Given the description of an element on the screen output the (x, y) to click on. 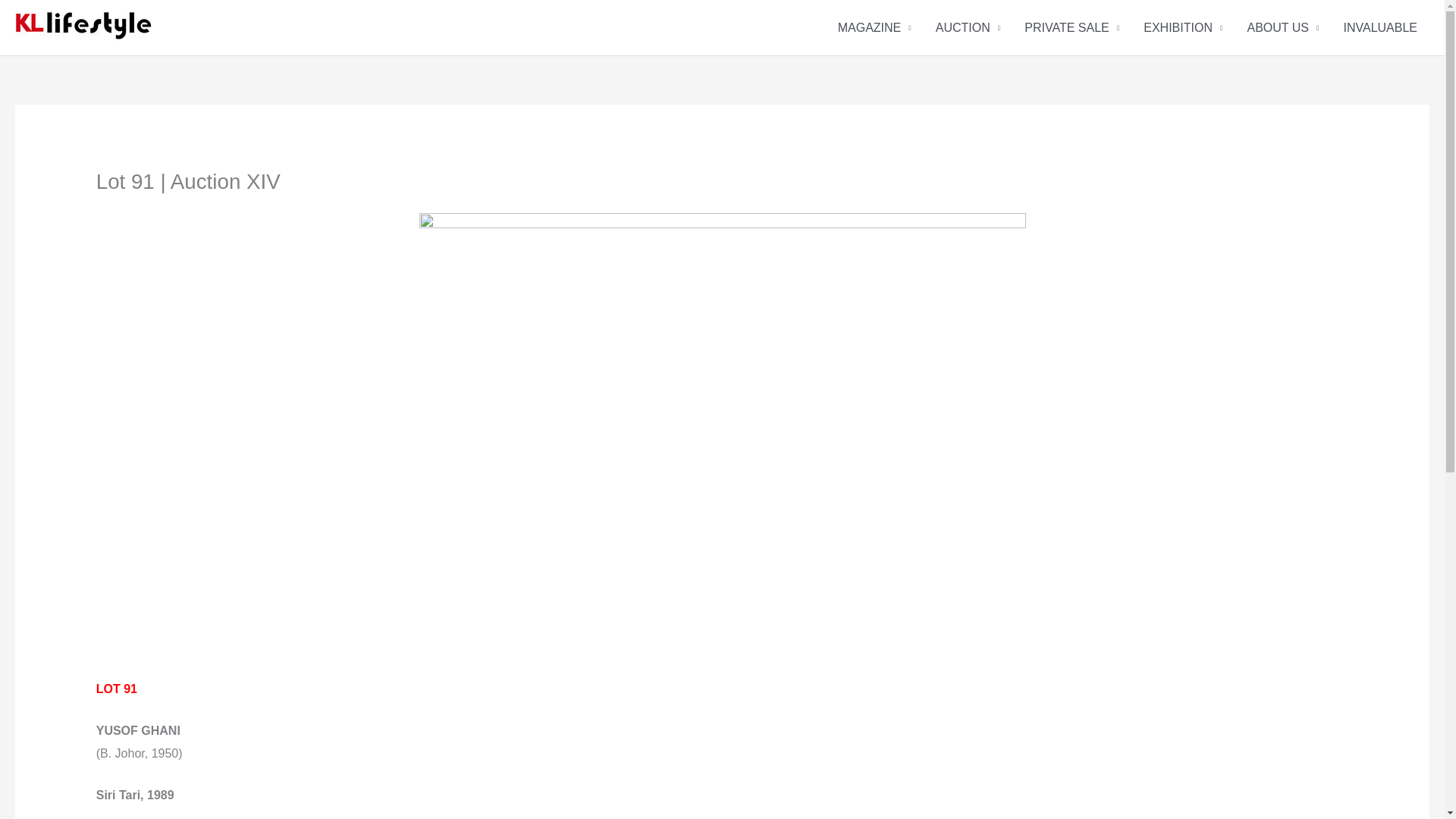
PRIVATE SALE (1071, 27)
EXHIBITION (1182, 27)
INVALUABLE (1379, 27)
AUCTION (968, 27)
ABOUT US (1282, 27)
MAGAZINE (874, 27)
